Given the description of an element on the screen output the (x, y) to click on. 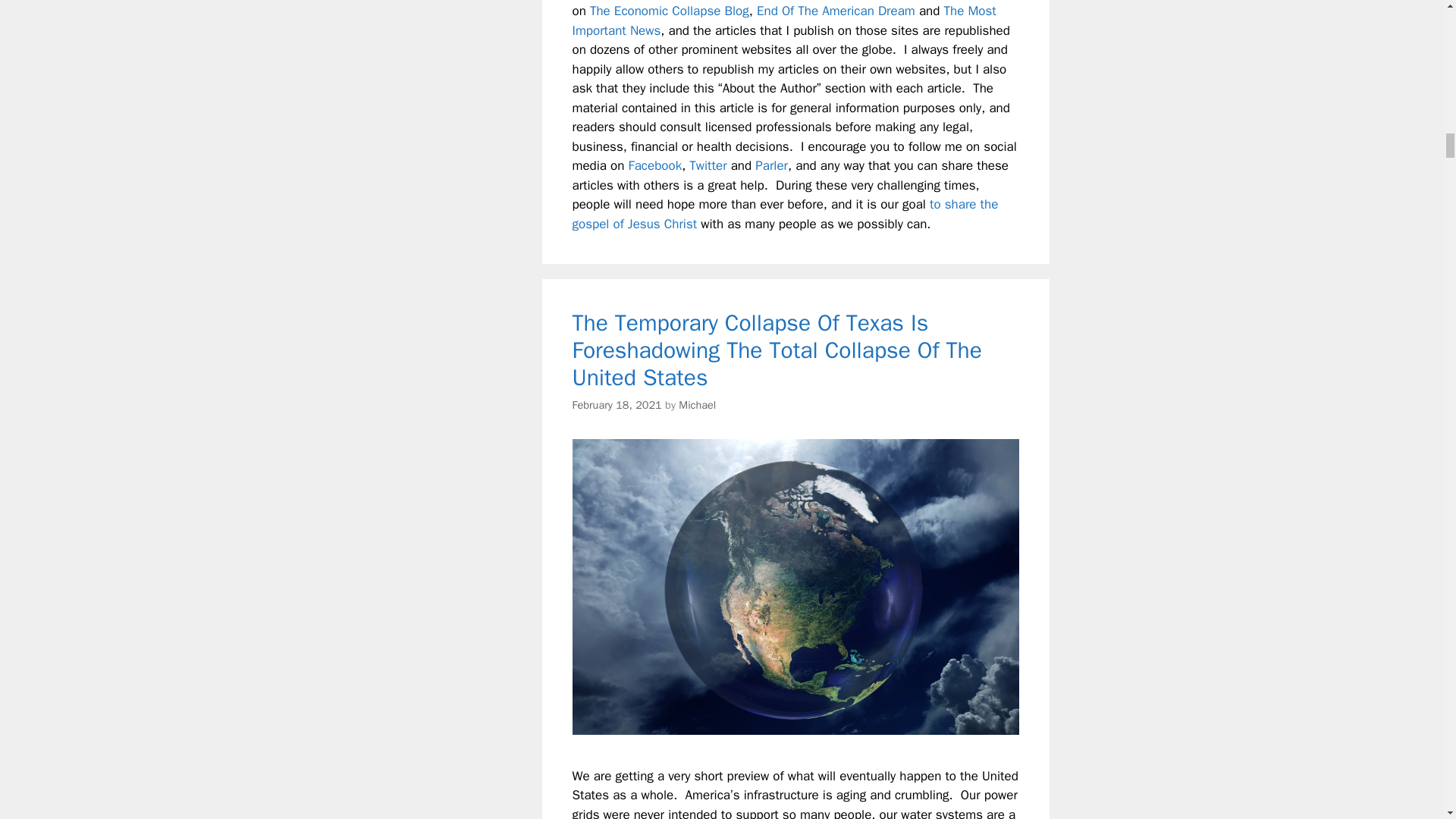
The Most Important News (783, 20)
The Economic Collapse Blog (669, 10)
Twitter (707, 165)
Facebook (655, 165)
Twitter (707, 165)
End Of The American Dream (836, 10)
The Economic Collapse Blog (669, 10)
Parler (771, 165)
End Of The American Dream (836, 10)
to share the gospel of Jesus Christ (784, 213)
